Given the description of an element on the screen output the (x, y) to click on. 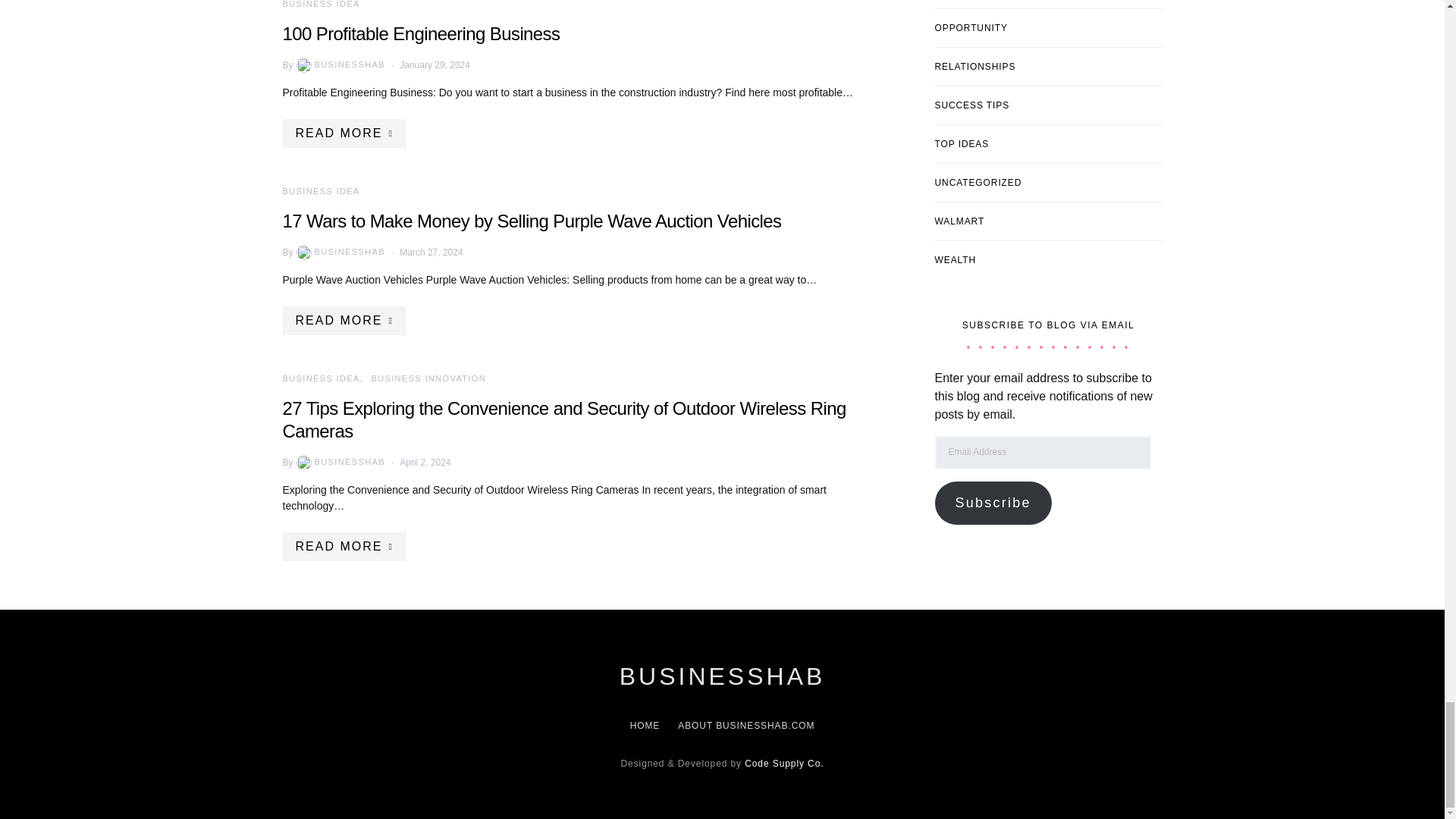
View all posts by BusinessHAB (339, 252)
View all posts by BusinessHAB (339, 461)
View all posts by BusinessHAB (339, 64)
